Given the description of an element on the screen output the (x, y) to click on. 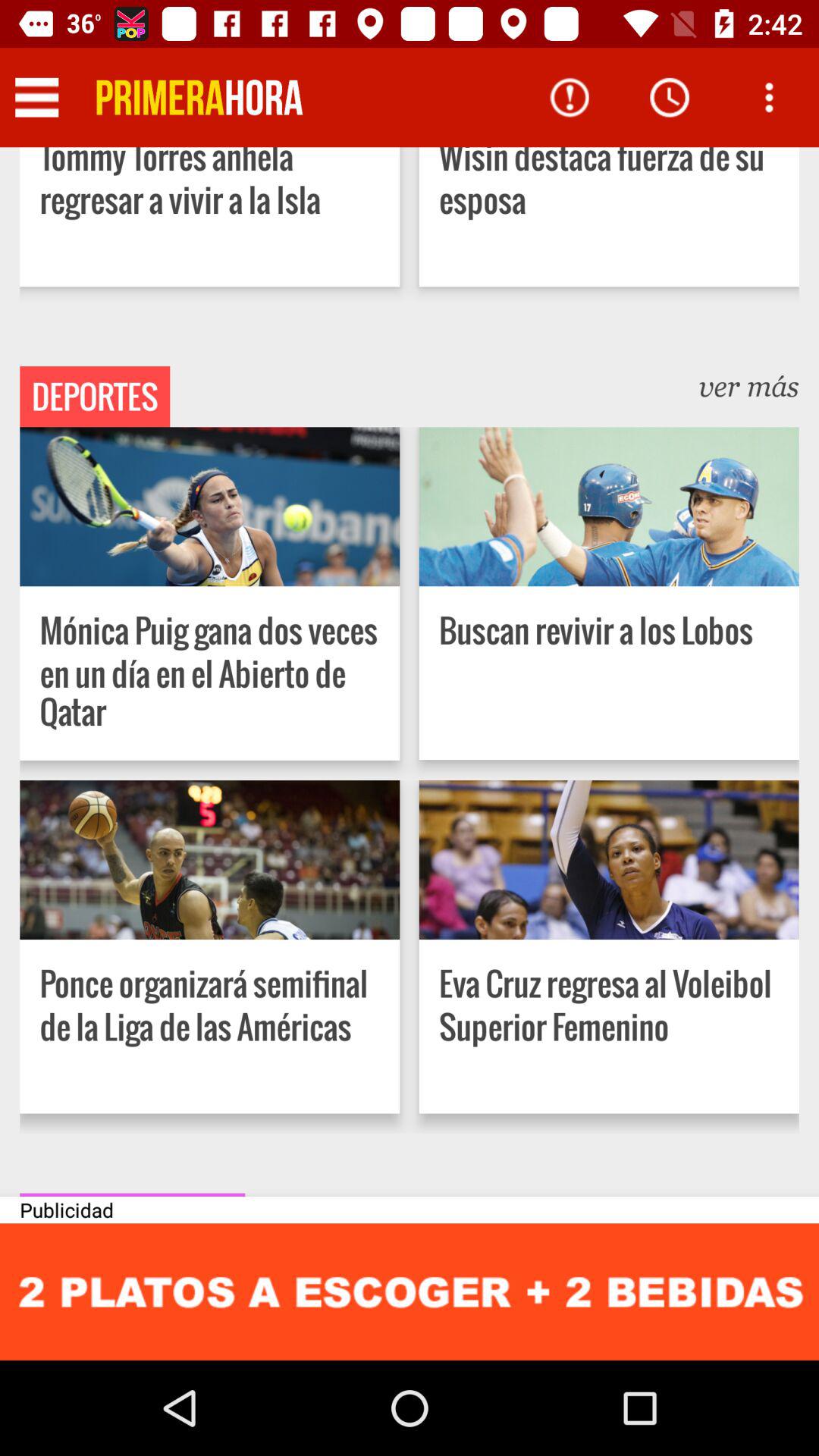
turn on icon next to wisin destaca fuerza app (199, 97)
